Given the description of an element on the screen output the (x, y) to click on. 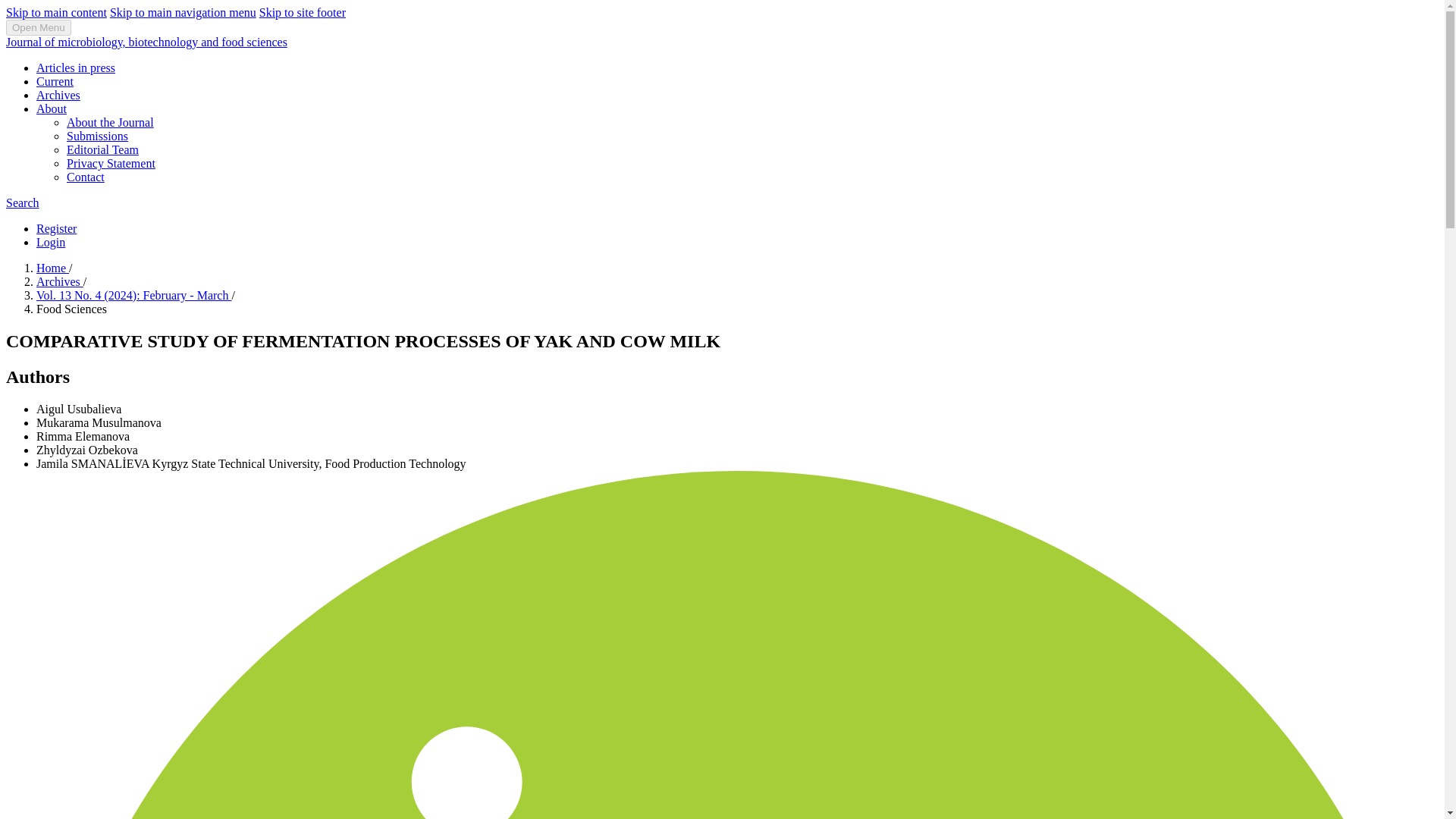
Skip to main navigation menu (183, 11)
Home (52, 267)
About the Journal (110, 122)
About (51, 108)
Privacy Statement (110, 163)
Current (55, 81)
Journal of microbiology, biotechnology and food sciences (145, 42)
Contact (85, 176)
Articles in press (75, 67)
Editorial Team (102, 149)
Skip to main content (55, 11)
Login (50, 241)
Skip to site footer (302, 11)
Submissions (97, 135)
Archives (59, 281)
